Given the description of an element on the screen output the (x, y) to click on. 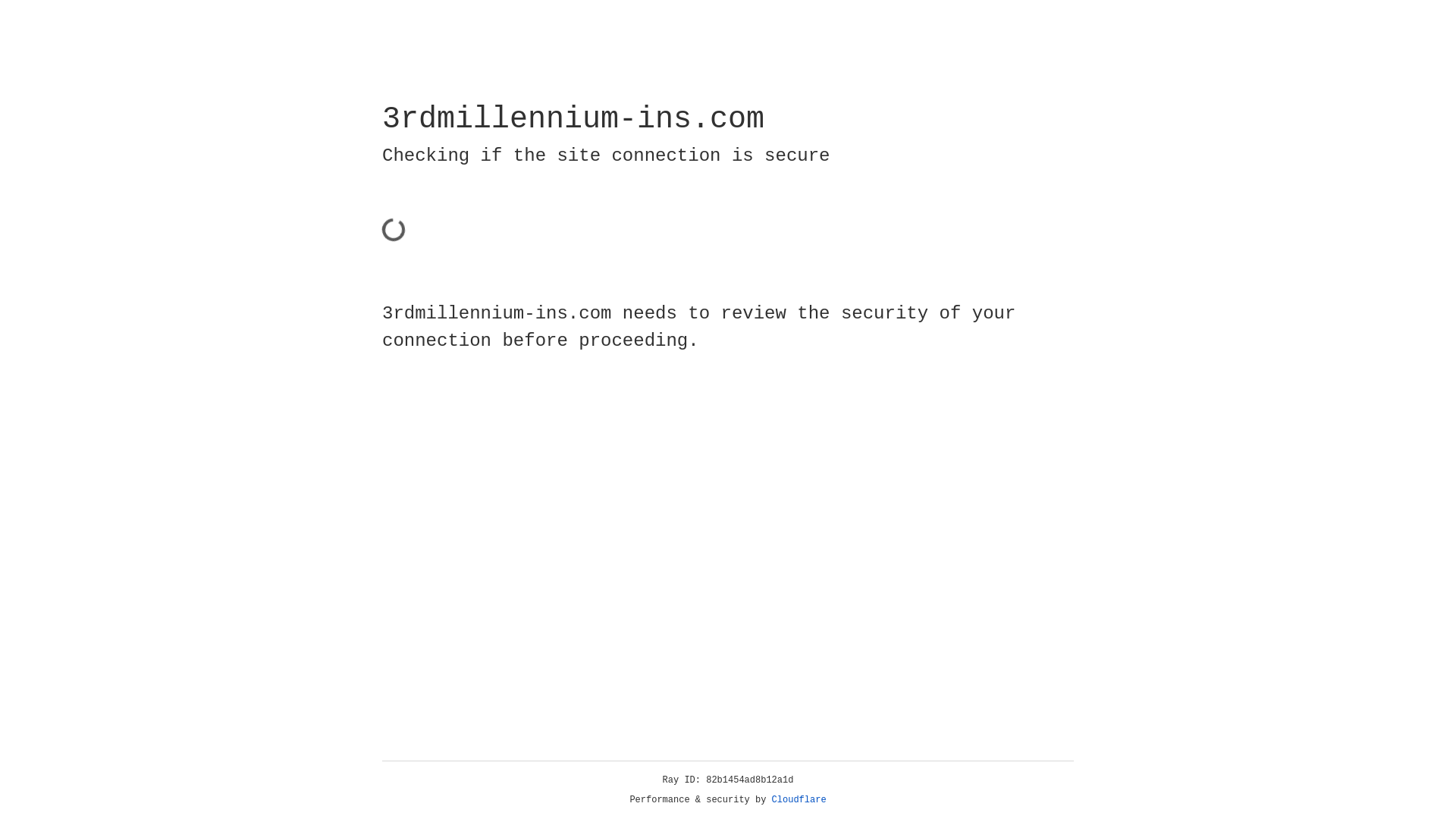
Cloudflare Element type: text (798, 799)
